Given the description of an element on the screen output the (x, y) to click on. 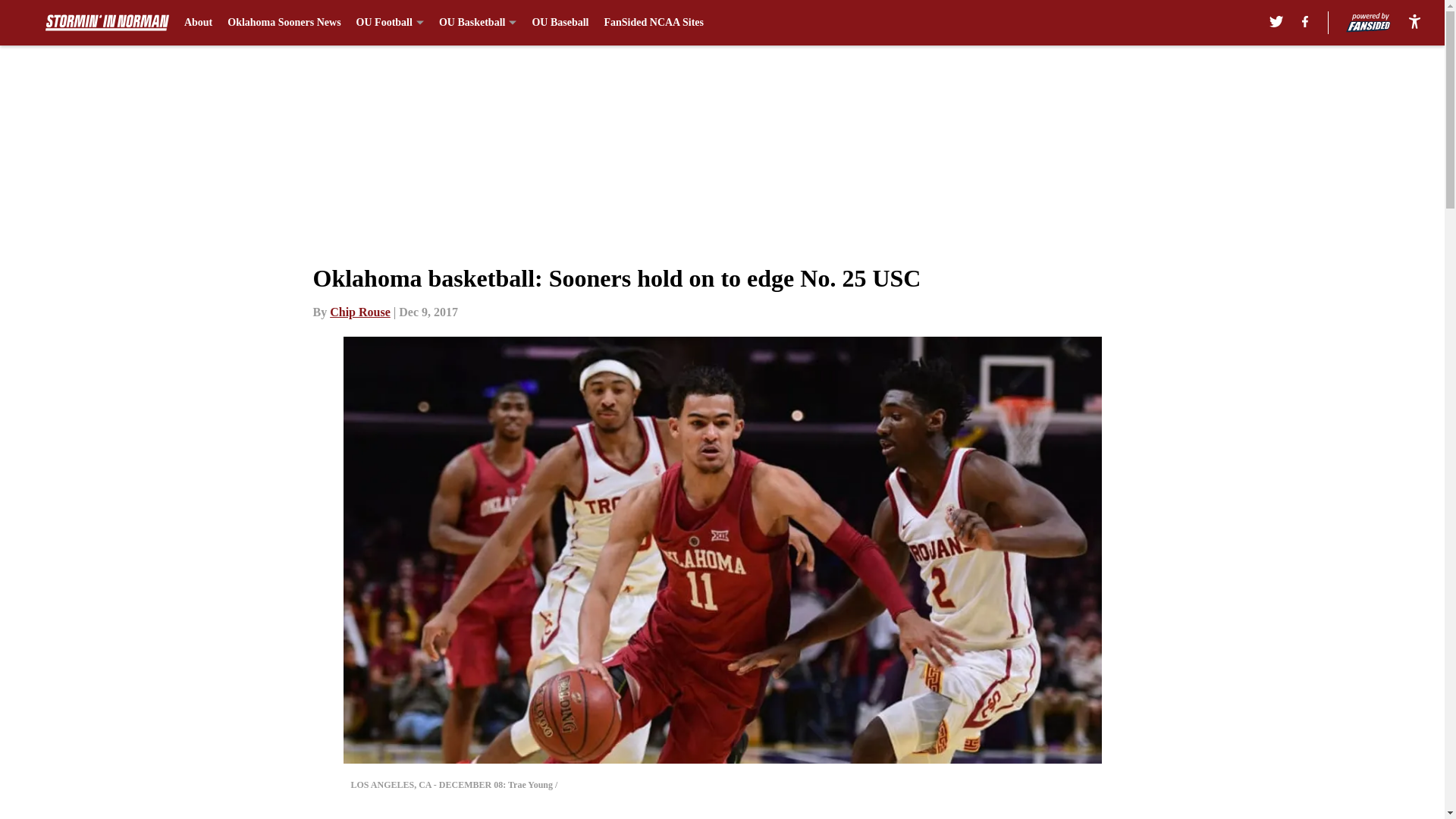
OU Baseball (559, 22)
Oklahoma Sooners News (283, 22)
About (198, 22)
Chip Rouse (360, 311)
FanSided NCAA Sites (653, 22)
